Given the description of an element on the screen output the (x, y) to click on. 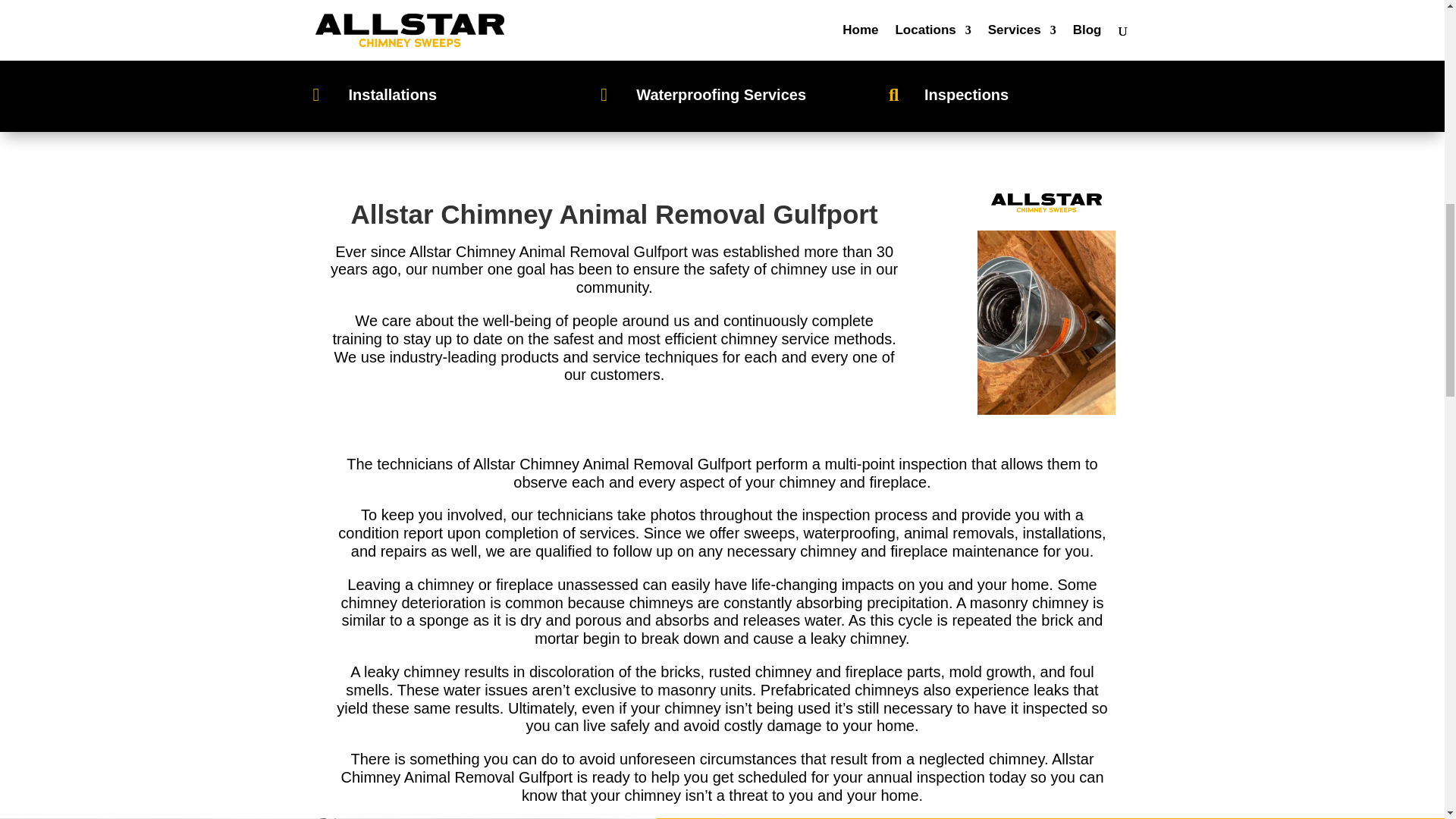
Chimney Sweep Destin Florida (1046, 202)
